Given the description of an element on the screen output the (x, y) to click on. 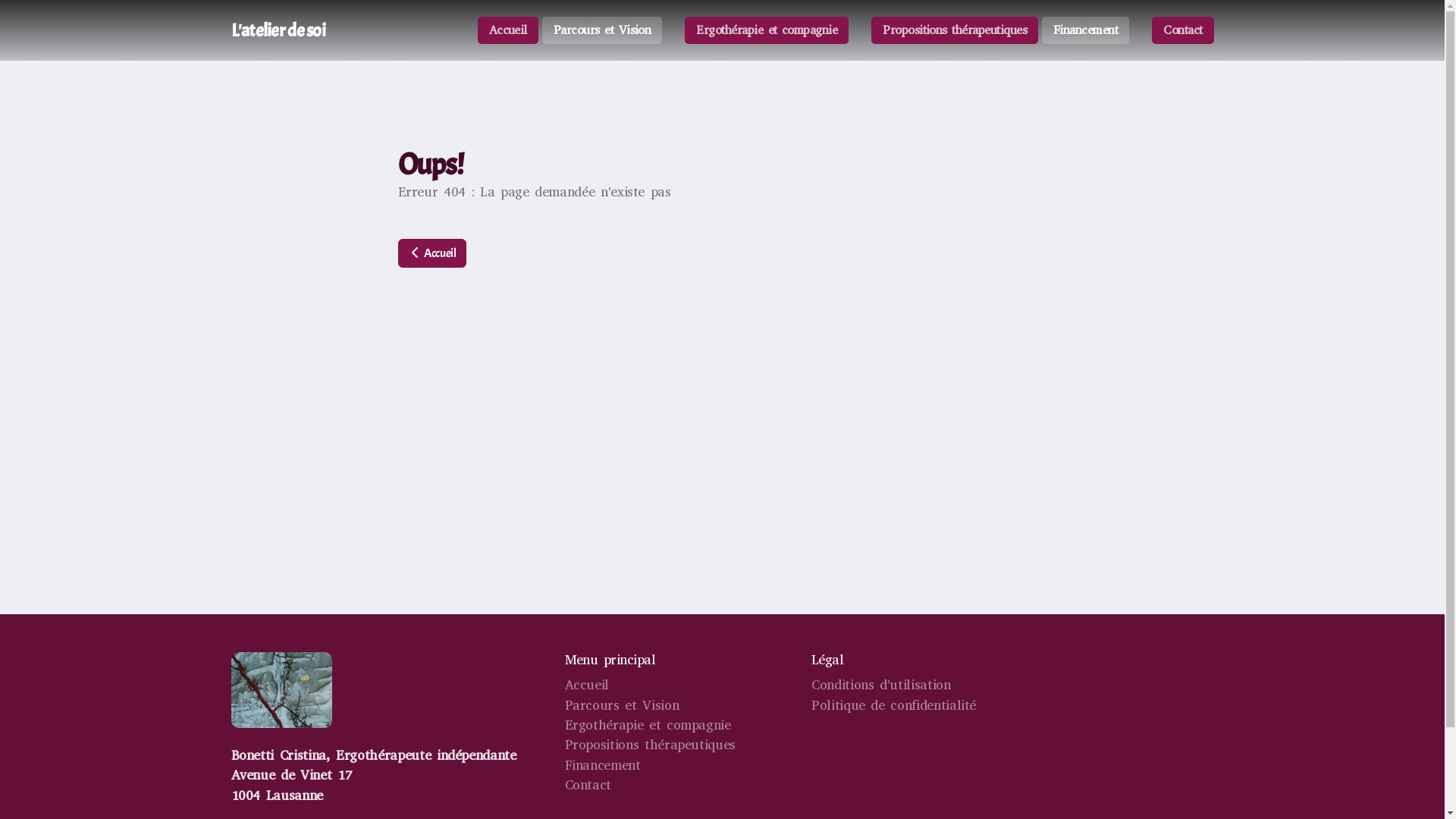
Accueil Element type: text (431, 252)
Accueil Element type: text (586, 684)
Financement Element type: text (602, 765)
Contact Element type: text (587, 784)
Parcours et Vision Element type: text (602, 29)
Parcours et Vision Element type: text (621, 704)
Financement Element type: text (1085, 29)
Conditions d'utilisation Element type: text (880, 684)
L'atelier de soi Element type: text (277, 30)
Accueil Element type: text (507, 29)
Contact Element type: text (1182, 29)
